Given the description of an element on the screen output the (x, y) to click on. 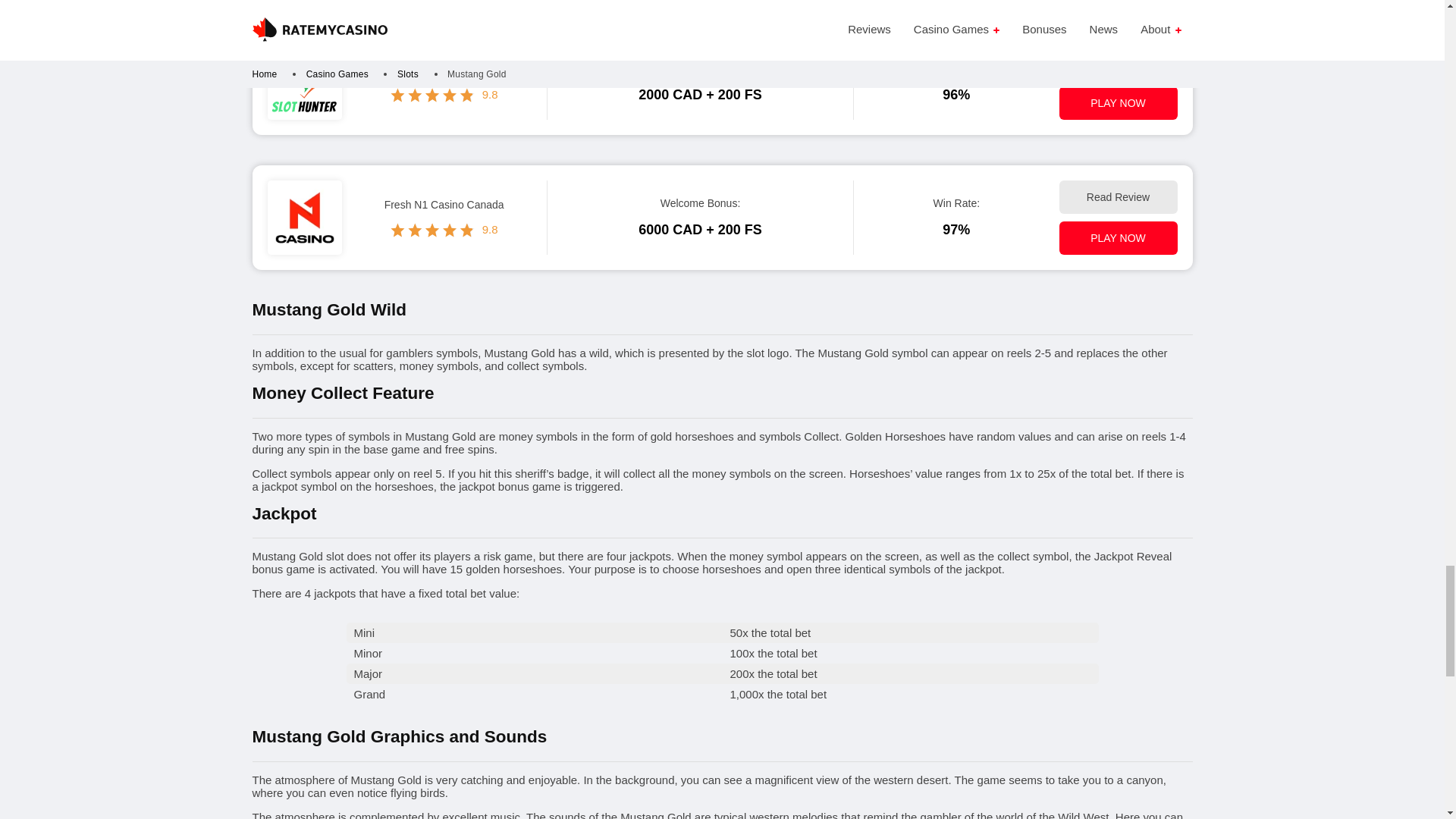
Read Review (1117, 196)
Read Review (1117, 61)
PLAY NOW (1117, 237)
PLAY NOW (1117, 102)
